Given the description of an element on the screen output the (x, y) to click on. 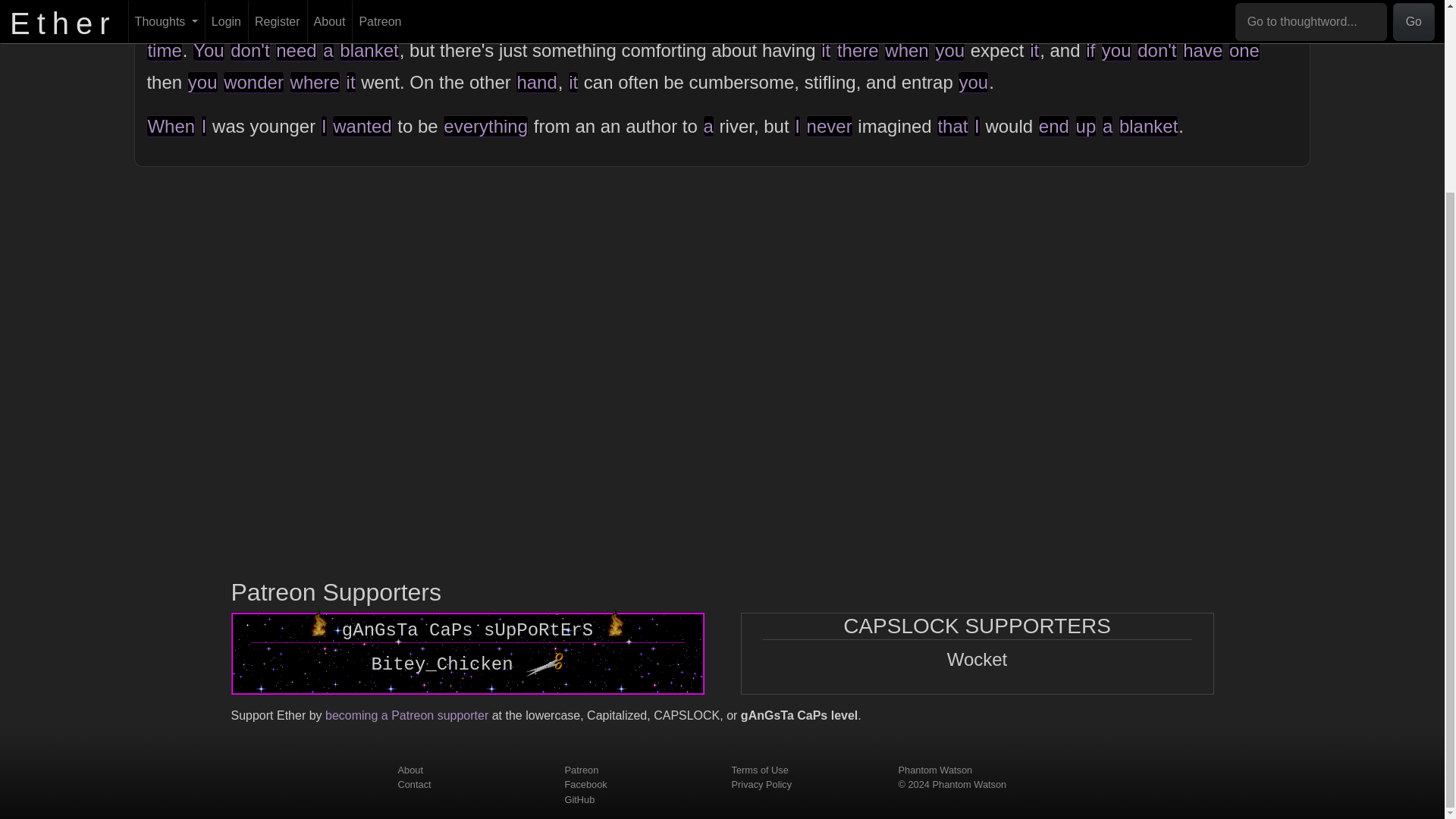
you (1116, 50)
need (296, 50)
don't (1156, 50)
when (905, 50)
like (1077, 18)
you (949, 50)
place (748, 18)
You (208, 50)
summer (1261, 18)
out (253, 18)
what (672, 18)
blanket (368, 50)
blanket (1143, 18)
time (164, 50)
